Given the description of an element on the screen output the (x, y) to click on. 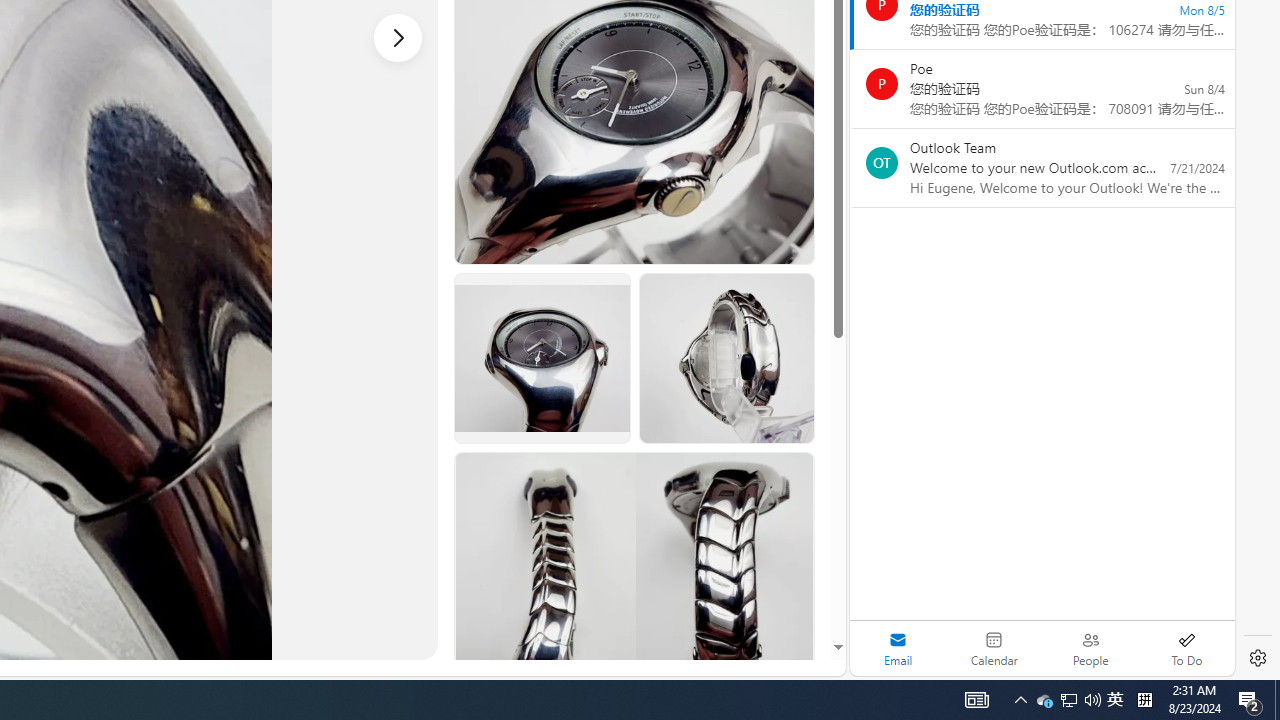
Selected mail module (898, 648)
Next image - Item images thumbnails (397, 37)
People (1090, 648)
To Do (1186, 648)
Calendar. Date today is 22 (994, 648)
